Given the description of an element on the screen output the (x, y) to click on. 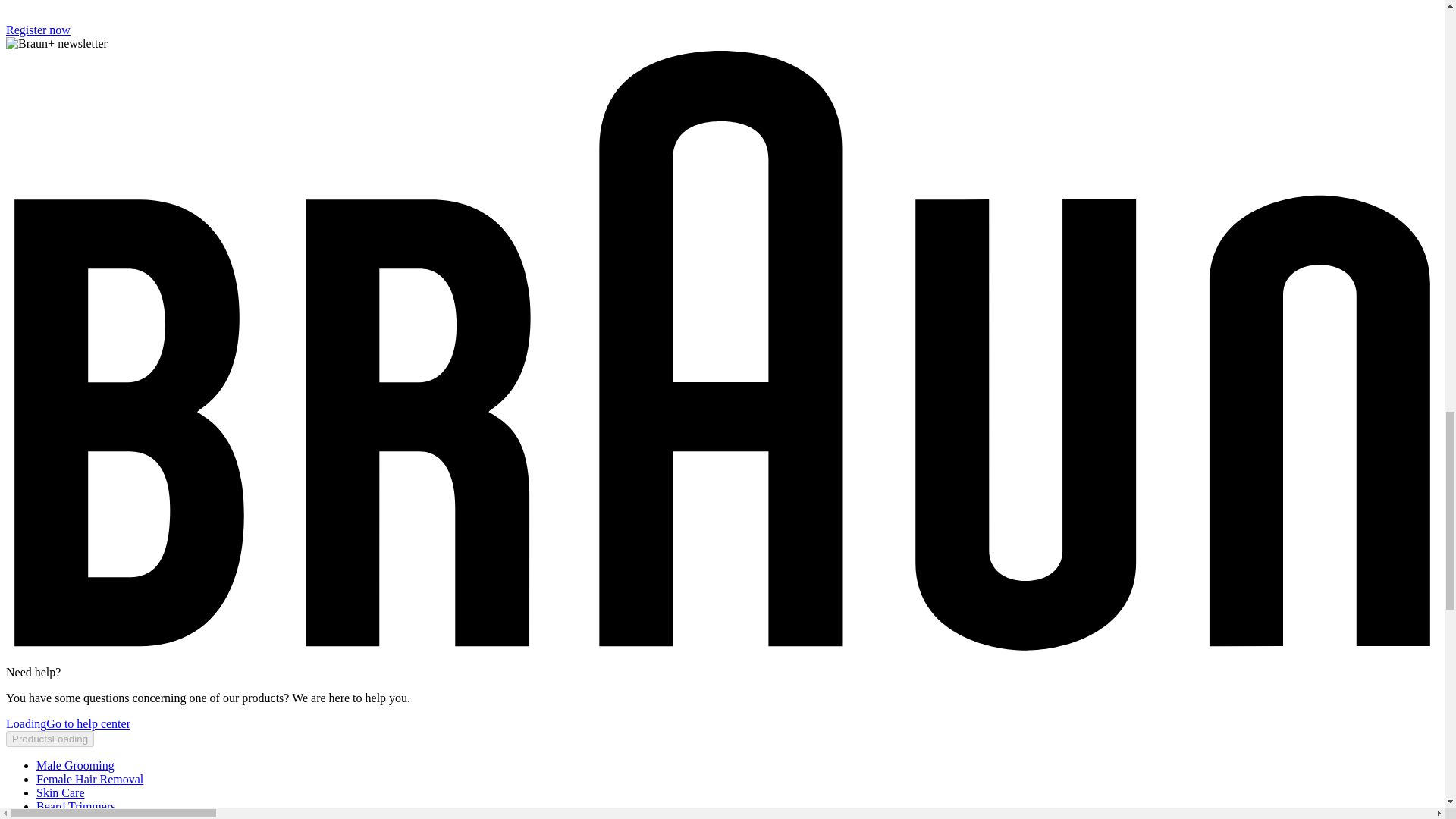
Beard Trimmers (75, 806)
Hair Clippers (68, 816)
Female Hair Removal (89, 779)
Register now (37, 29)
Register now (37, 29)
ProductsLoading (49, 738)
LoadingGo to help center (68, 723)
Skin Care (60, 792)
Male Grooming (75, 765)
